Given the description of an element on the screen output the (x, y) to click on. 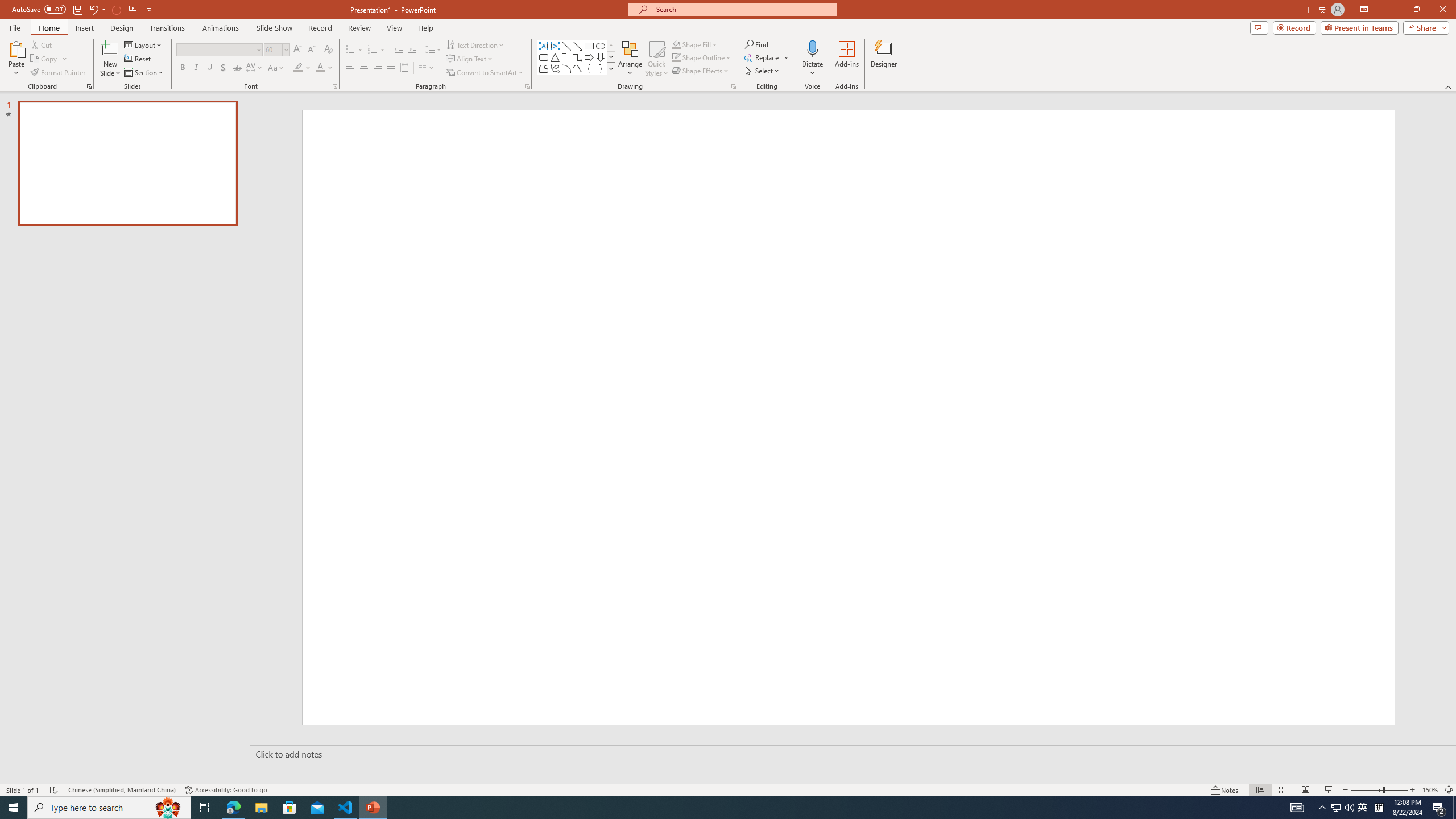
Shape Outline Blue, Accent 1 (675, 56)
